Given the description of an element on the screen output the (x, y) to click on. 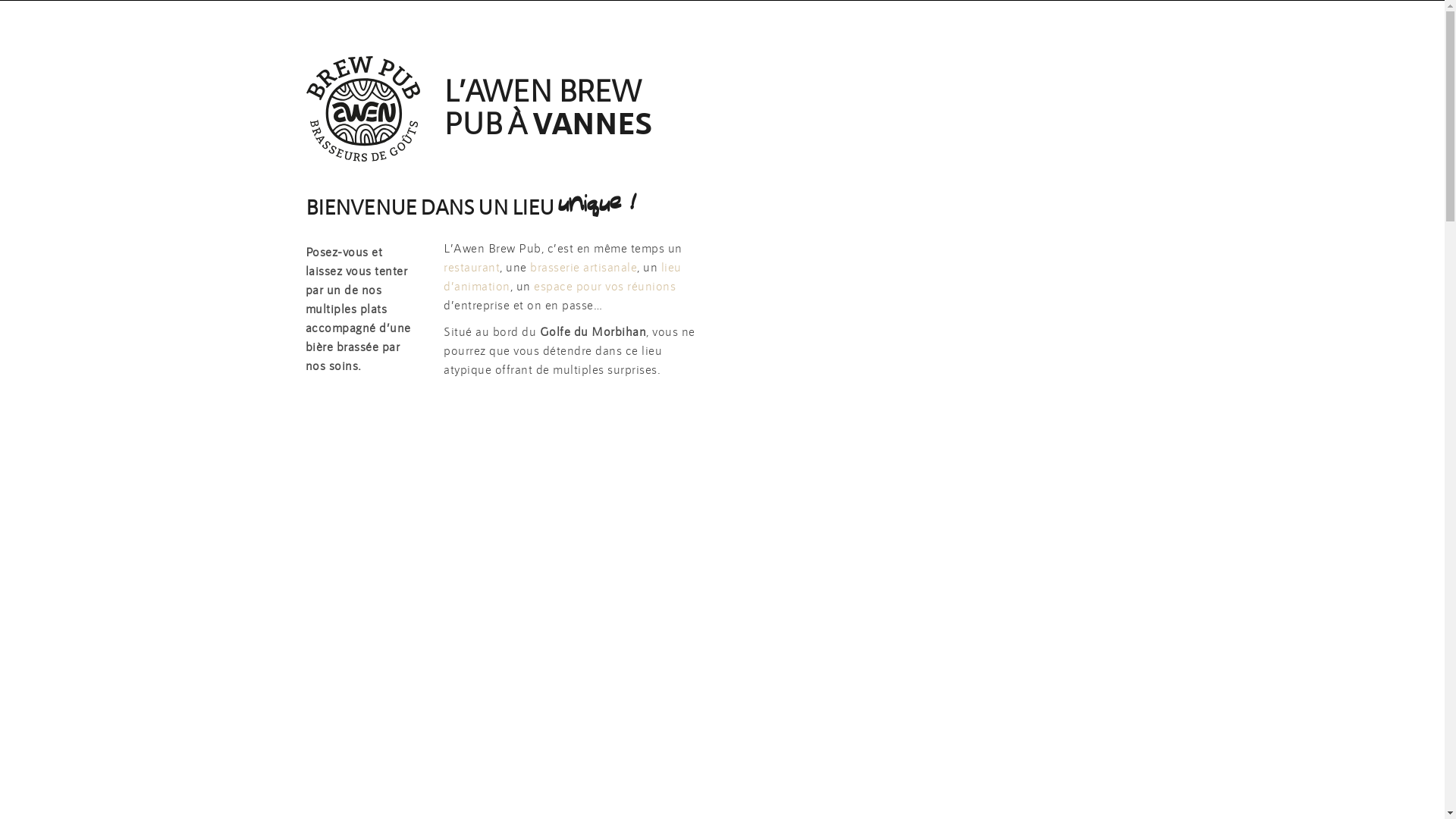
brasserie artisanale Element type: text (583, 267)
restaurant Element type: text (471, 267)
